Given the description of an element on the screen output the (x, y) to click on. 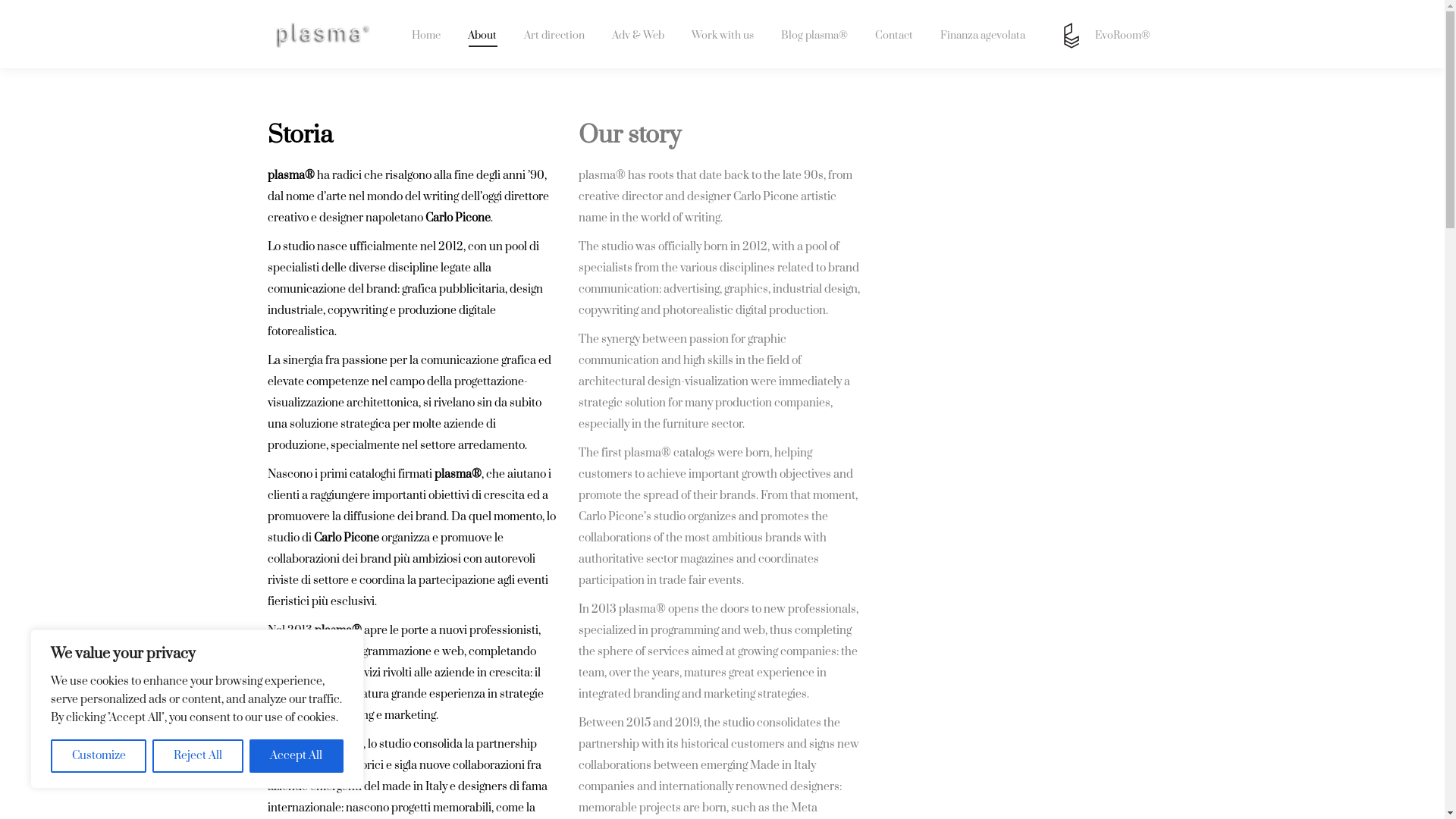
About Element type: text (481, 35)
Finanza agevolata Element type: text (982, 35)
Work with us Element type: text (722, 35)
Contact Element type: text (894, 35)
Accept All Element type: text (296, 755)
Reject All Element type: text (197, 755)
Art direction Element type: text (553, 35)
Home Element type: text (425, 35)
Customize Element type: text (98, 755)
Adv & Web Element type: text (637, 35)
